Given the description of an element on the screen output the (x, y) to click on. 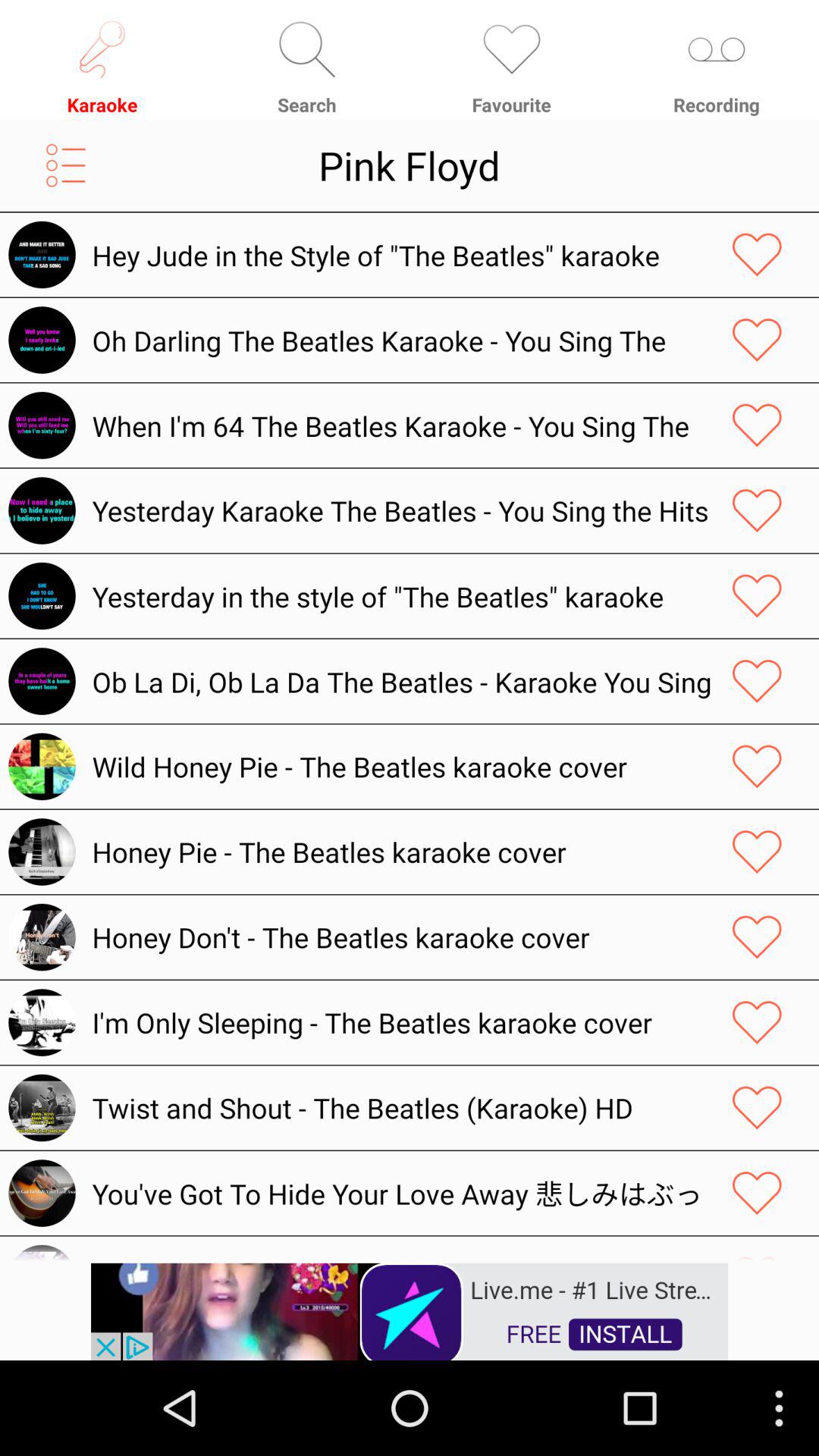
indicate like (756, 1022)
